Given the description of an element on the screen output the (x, y) to click on. 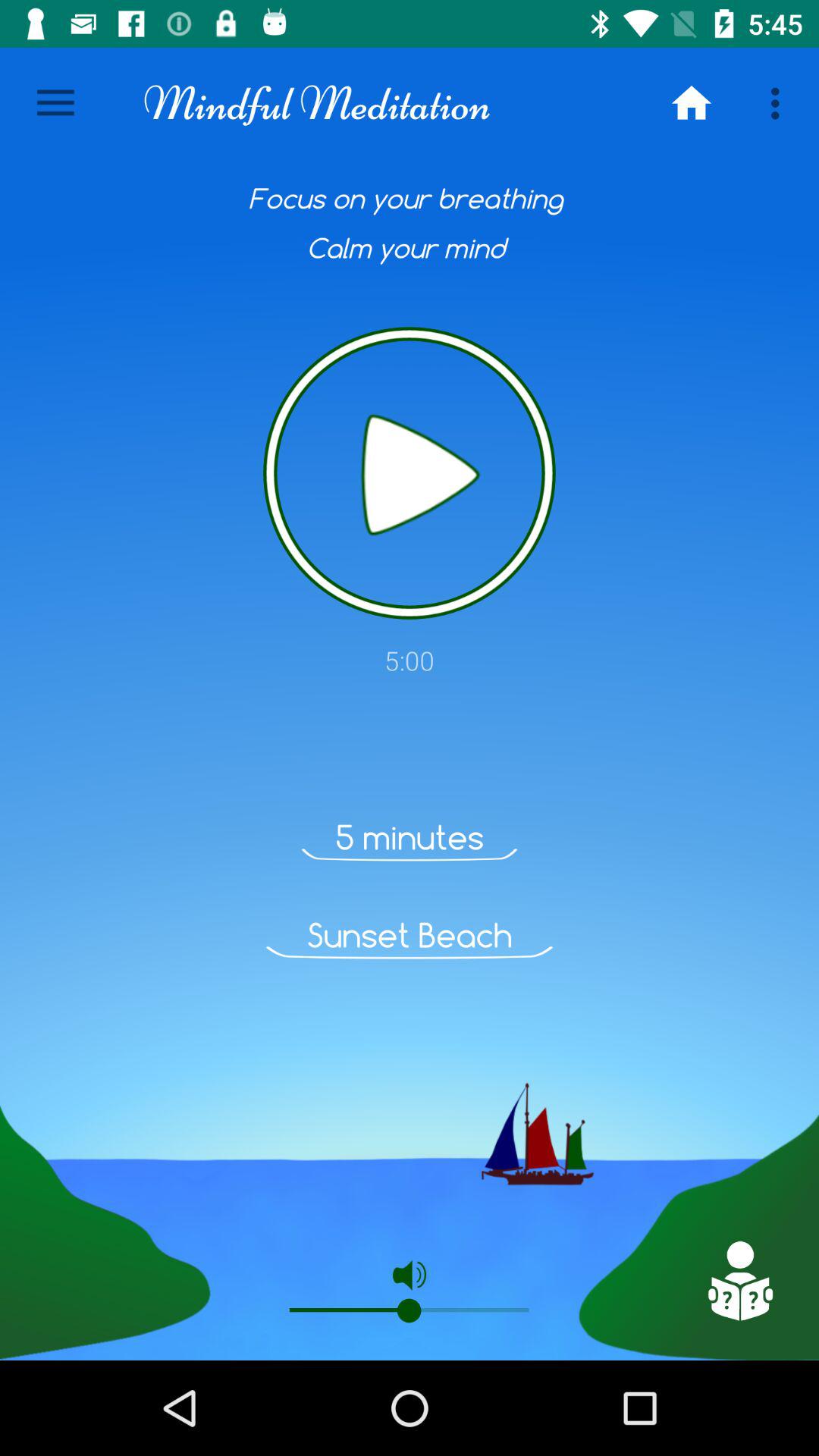
play button (409, 472)
